Given the description of an element on the screen output the (x, y) to click on. 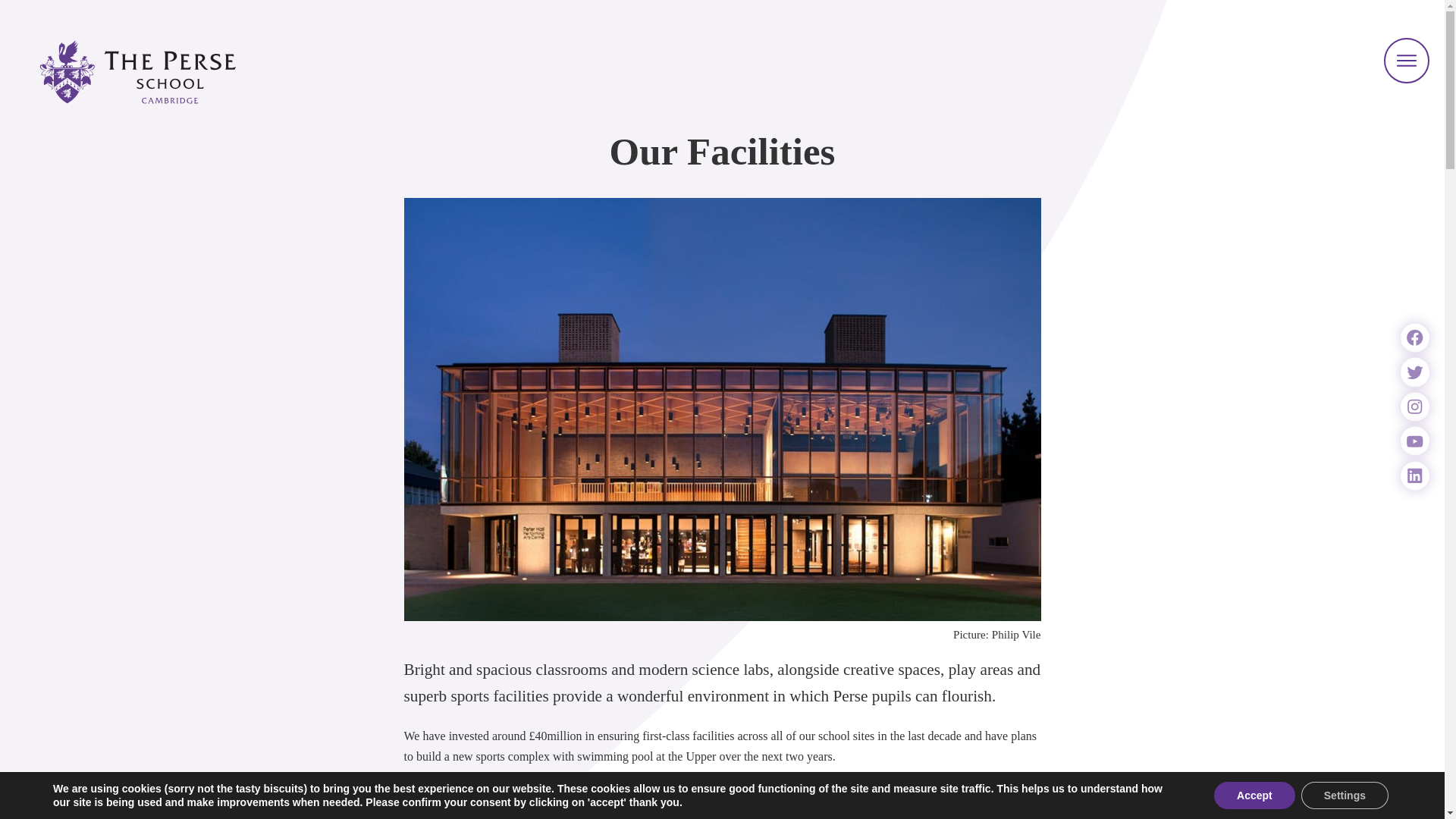
Search (530, 798)
